Given the description of an element on the screen output the (x, y) to click on. 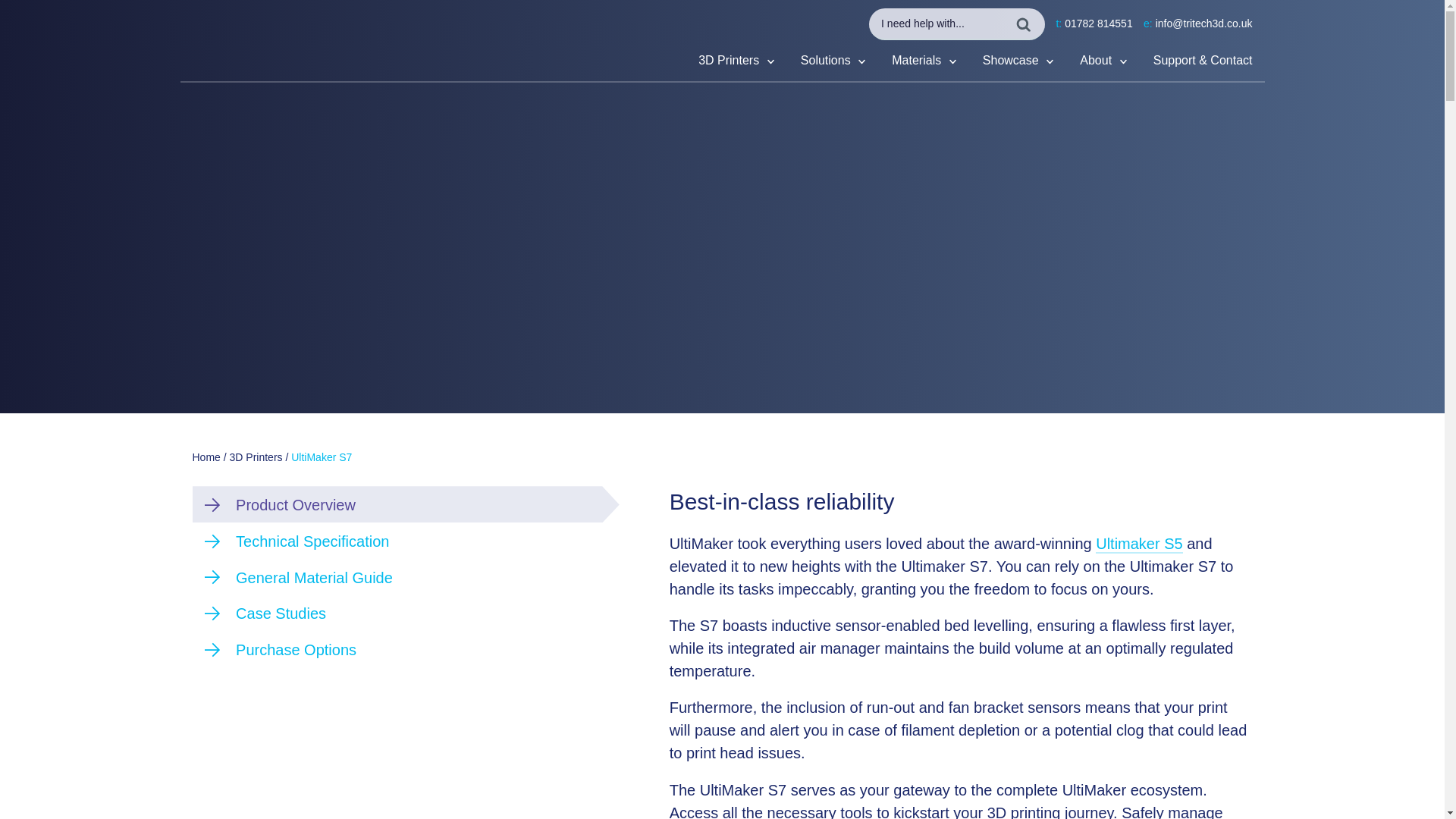
3D Printers (736, 60)
01782 814551 (1098, 23)
About (1103, 60)
Materials (924, 60)
Search (31, 15)
Solutions (833, 60)
Showcase (1018, 60)
Call us (1098, 23)
